Given the description of an element on the screen output the (x, y) to click on. 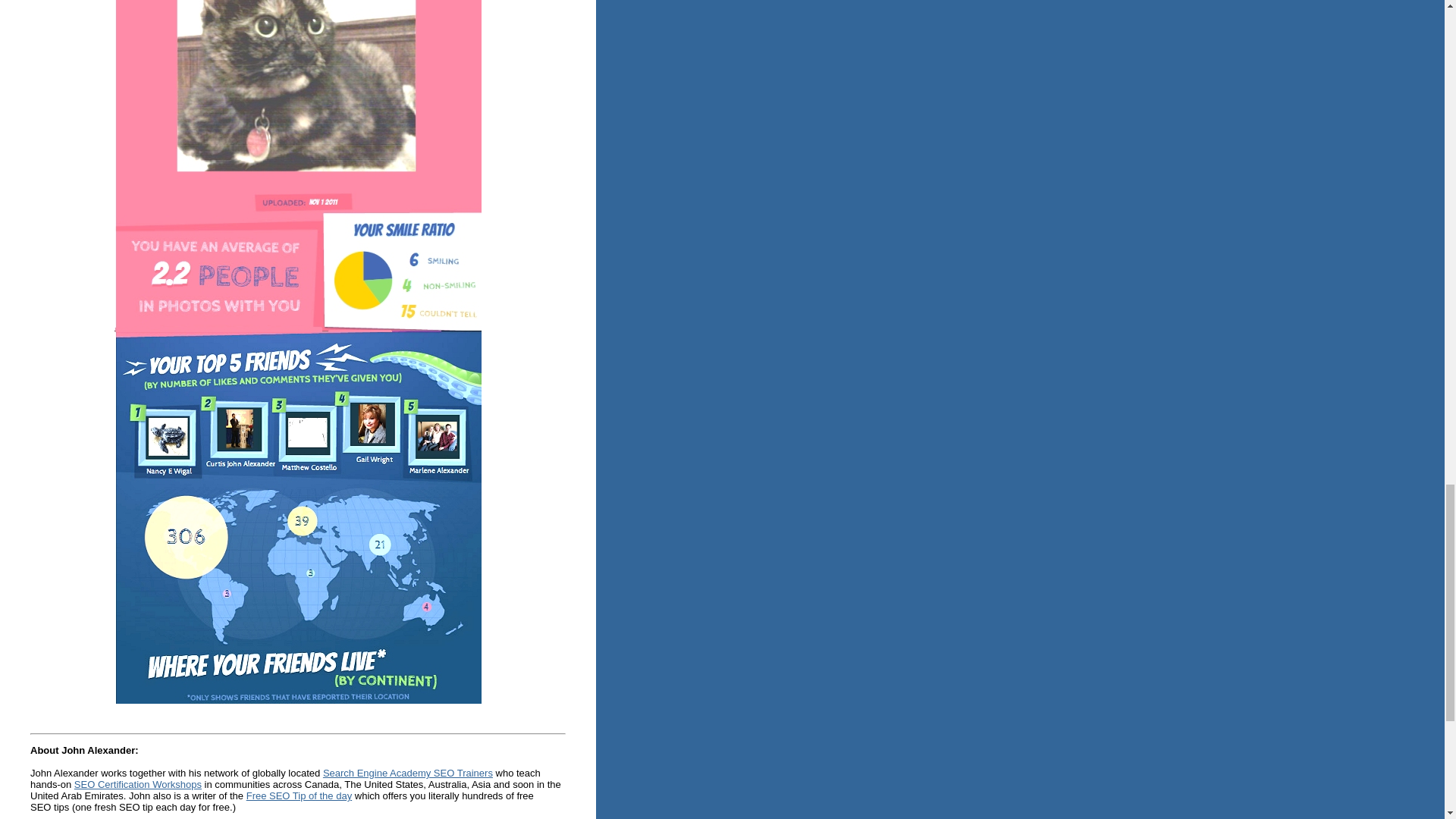
Free SEO Tip of the day (299, 795)
Search Engine Academy SEO Trainers (408, 772)
SEO Certification Workshops (138, 784)
